Given the description of an element on the screen output the (x, y) to click on. 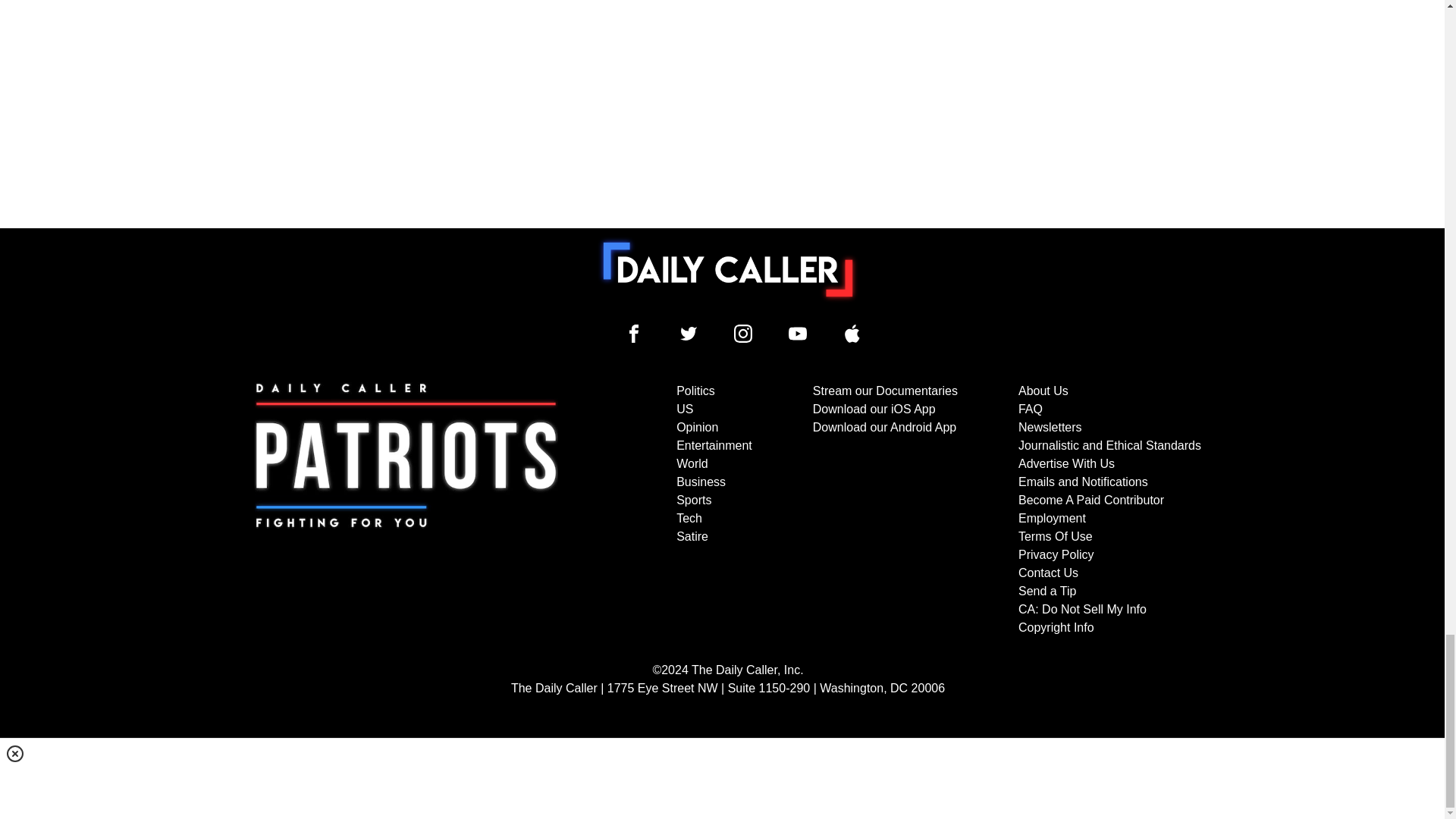
Daily Caller YouTube (852, 333)
Daily Caller Instagram (742, 333)
Daily Caller Facebook (633, 333)
Daily Caller Twitter (688, 333)
Daily Caller YouTube (797, 333)
To home page (727, 268)
